Given the description of an element on the screen output the (x, y) to click on. 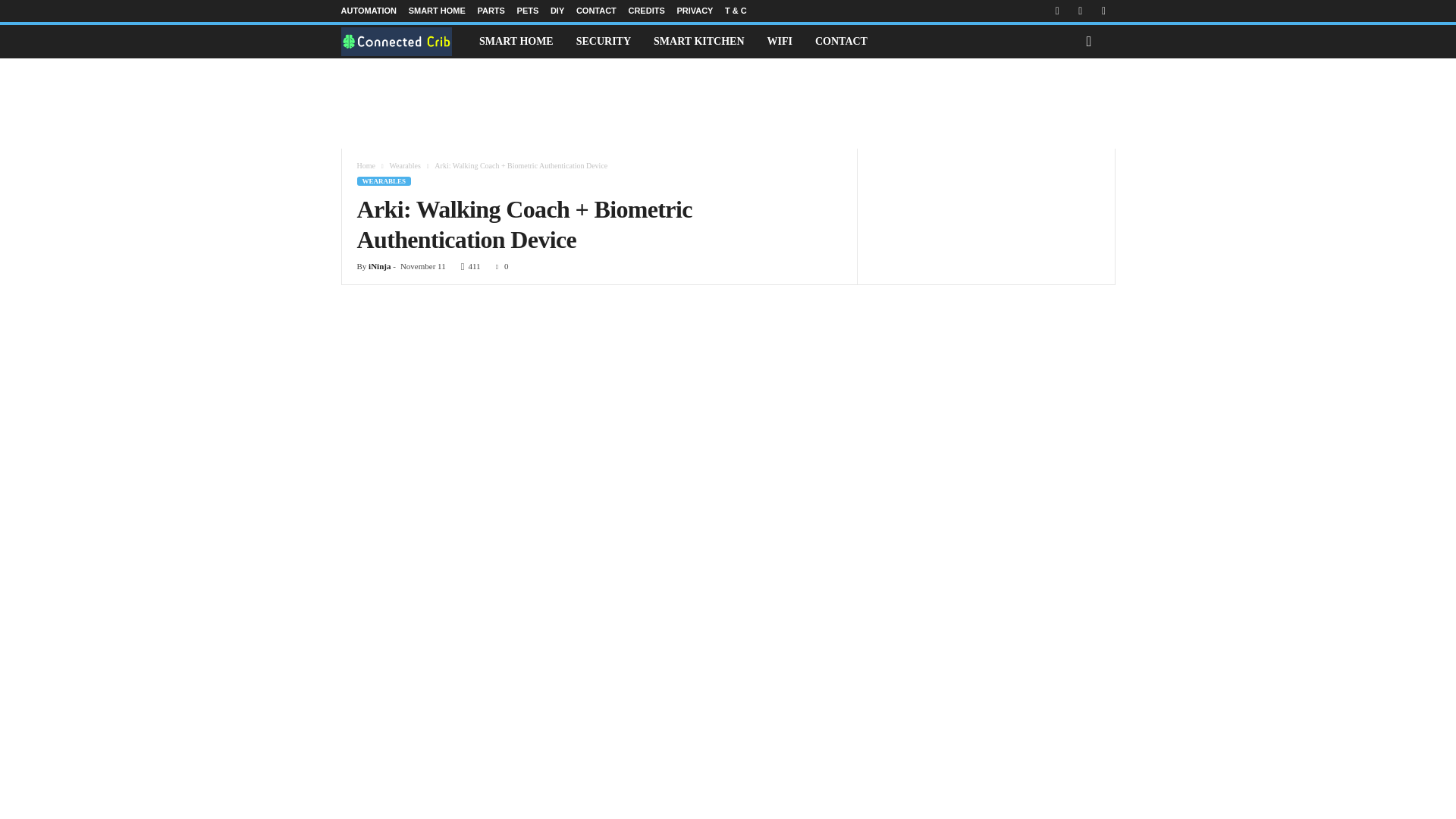
PRIVACY (695, 10)
CONTACT (595, 10)
AUTOMATION (368, 10)
PARTS (490, 10)
PETS (527, 10)
SMART HOME (437, 10)
CREDITS (645, 10)
Connected Crib (404, 41)
SMART HOME (515, 41)
DIY (557, 10)
